Given the description of an element on the screen output the (x, y) to click on. 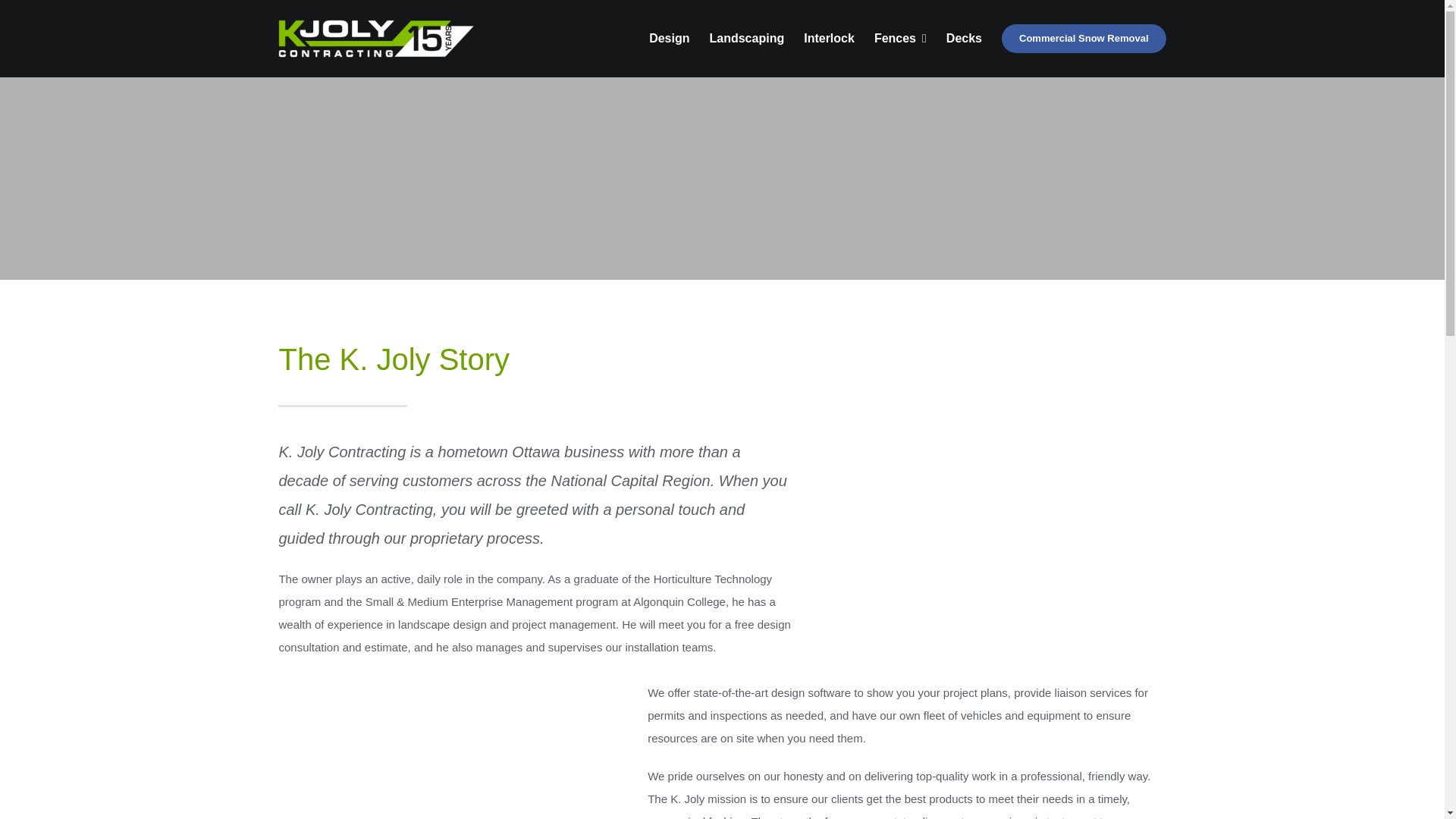
Fences (900, 38)
Landscaping (747, 38)
Decks (963, 38)
Design (668, 38)
Interlock (828, 38)
Commercial Snow Removal (1083, 38)
